Given the description of an element on the screen output the (x, y) to click on. 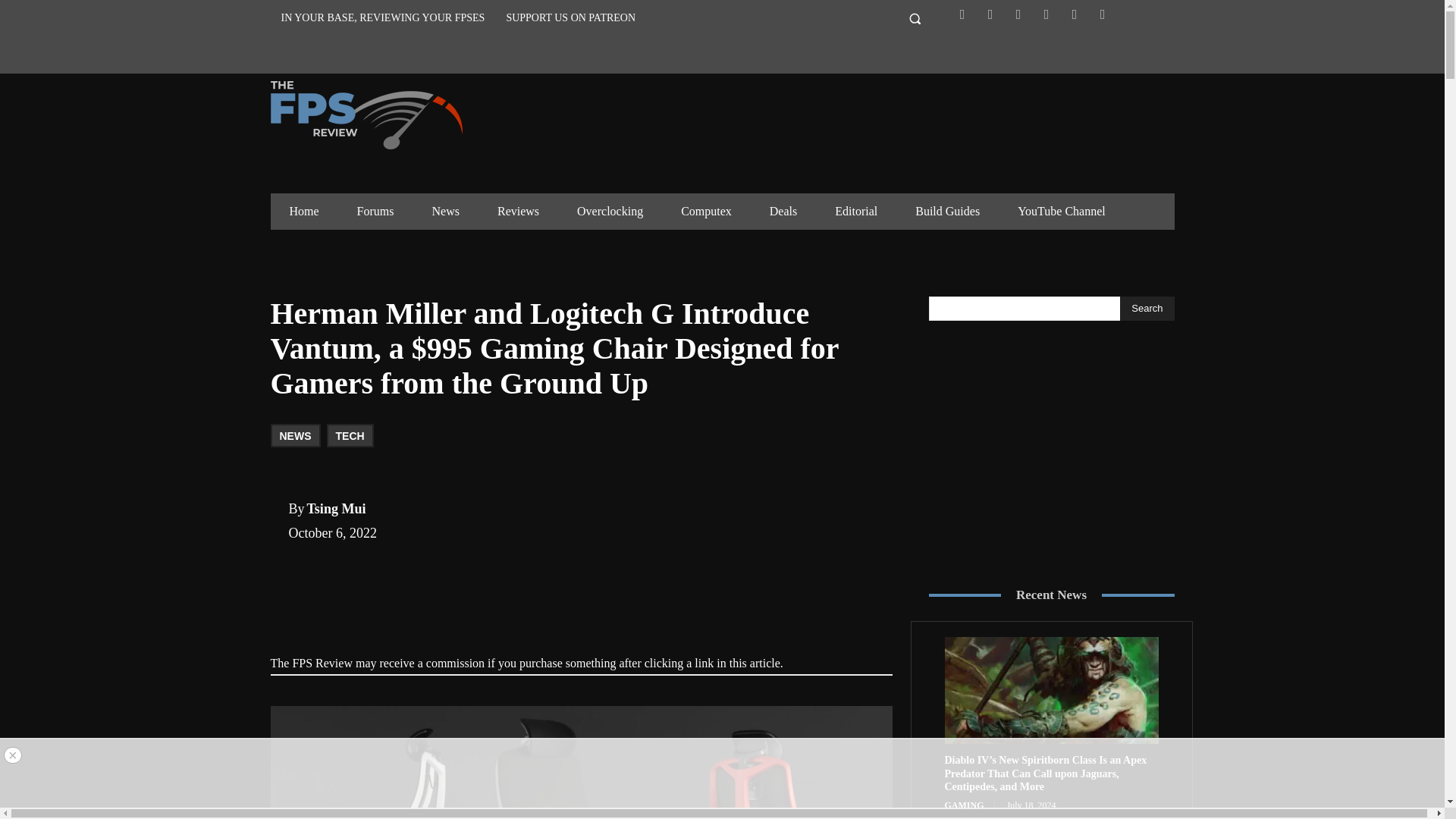
Flipboard (990, 13)
Instagram (1018, 13)
Facebook (962, 13)
